Given the description of an element on the screen output the (x, y) to click on. 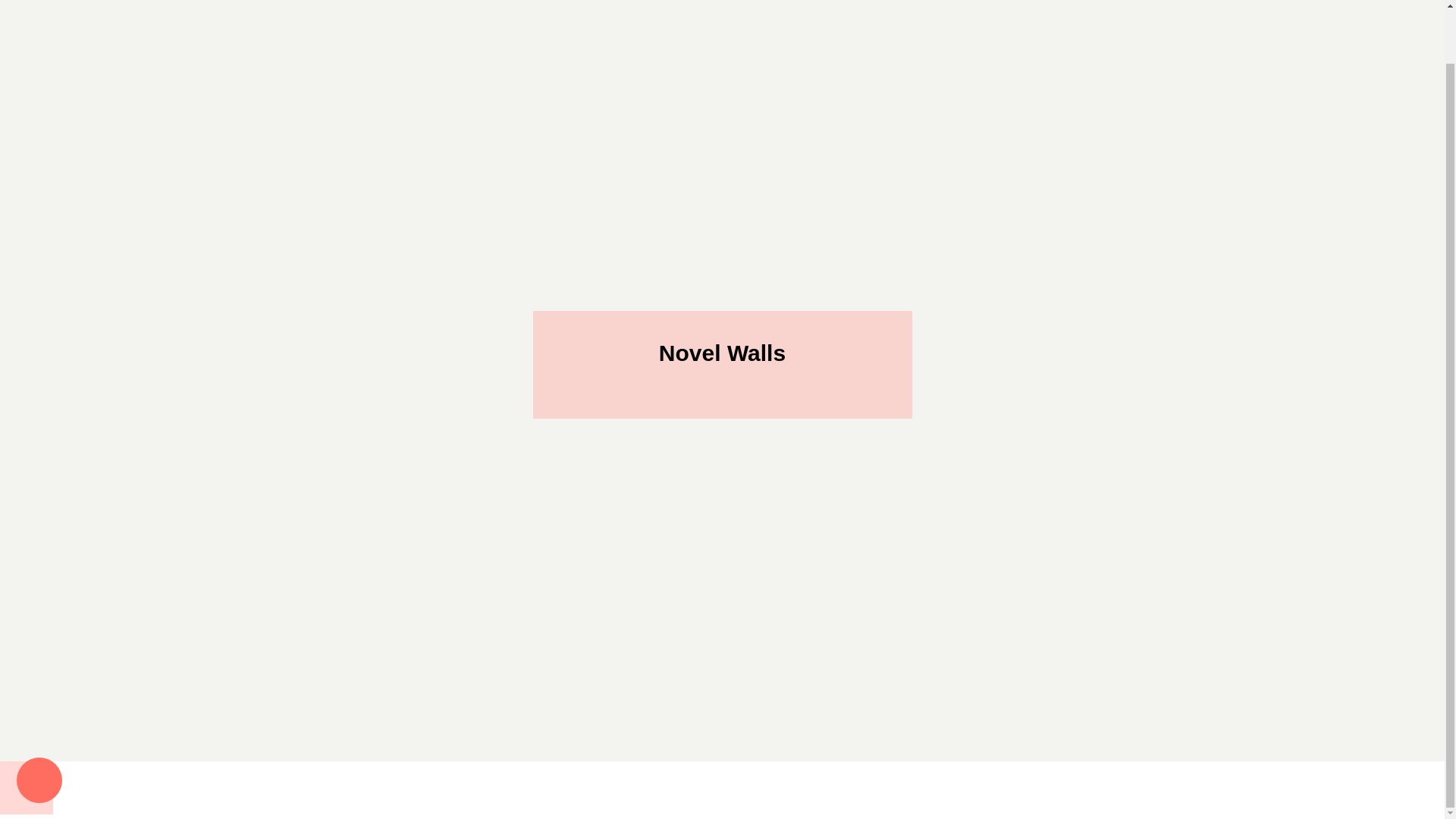
Shopify online store chat (38, 724)
